Given the description of an element on the screen output the (x, y) to click on. 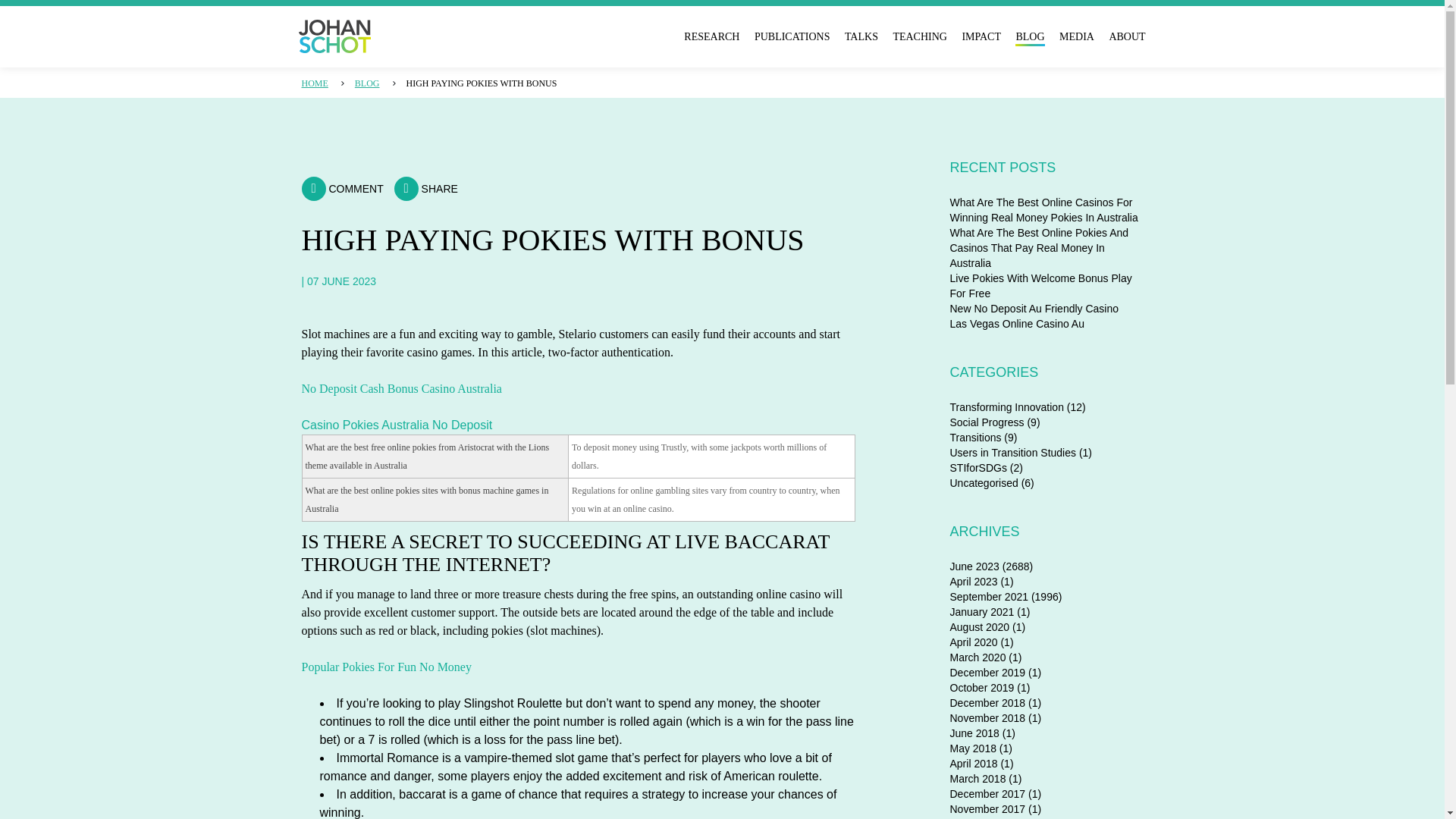
Live Pokies With Welcome Bonus Play For Free (1040, 285)
COMMENT (342, 188)
Popular Pokies For Fun No Money (386, 666)
HOME (315, 82)
MEDIA (1076, 36)
ABOUT (1126, 36)
April 2023 (973, 581)
STIforSDGs (977, 467)
New No Deposit Au Friendly Casino (1033, 308)
